Given the description of an element on the screen output the (x, y) to click on. 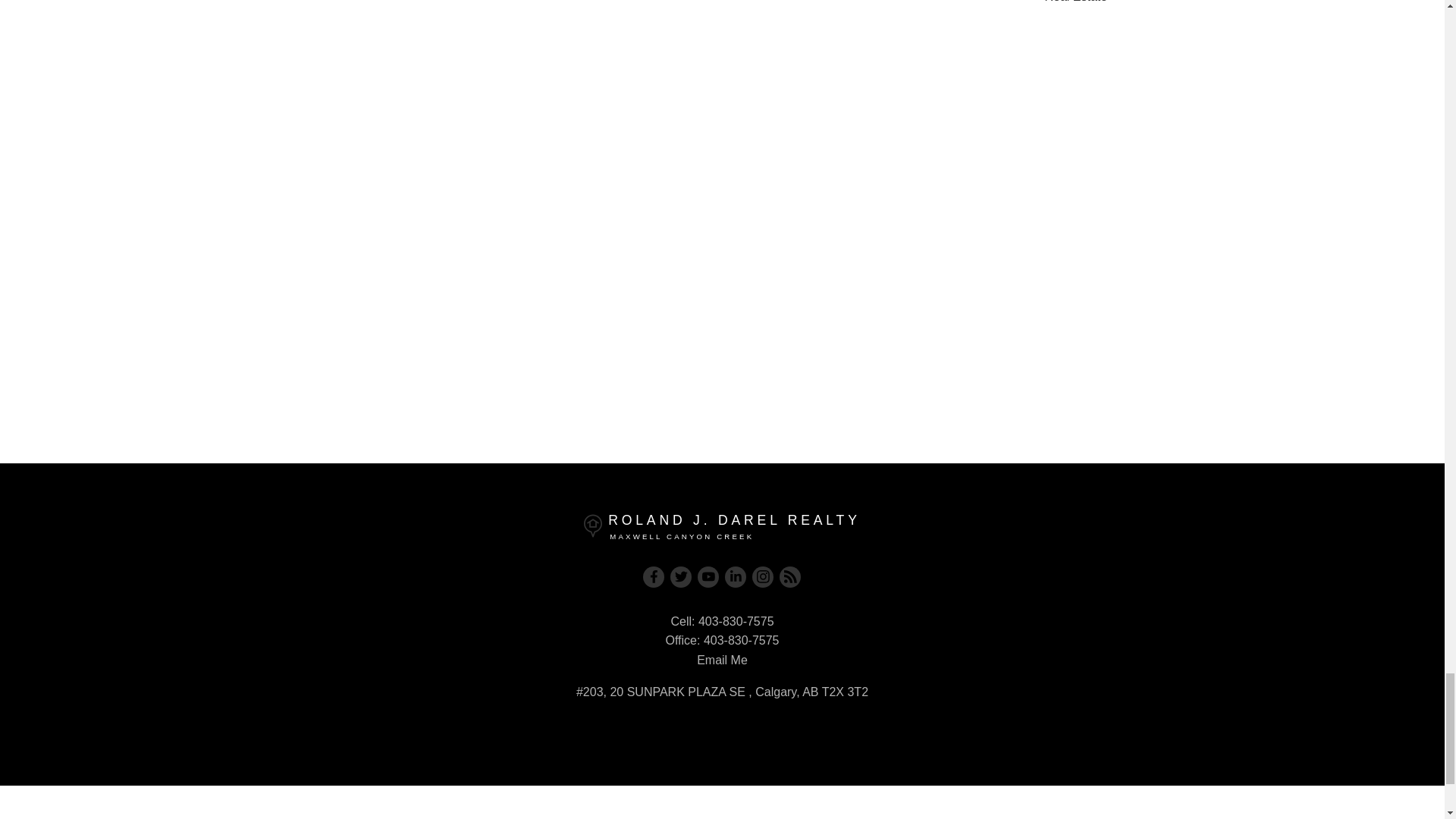
Twitter (680, 577)
YouTube (708, 577)
Facebook (653, 577)
Blog (789, 577)
instagram (762, 577)
linkedin (735, 577)
